Given the description of an element on the screen output the (x, y) to click on. 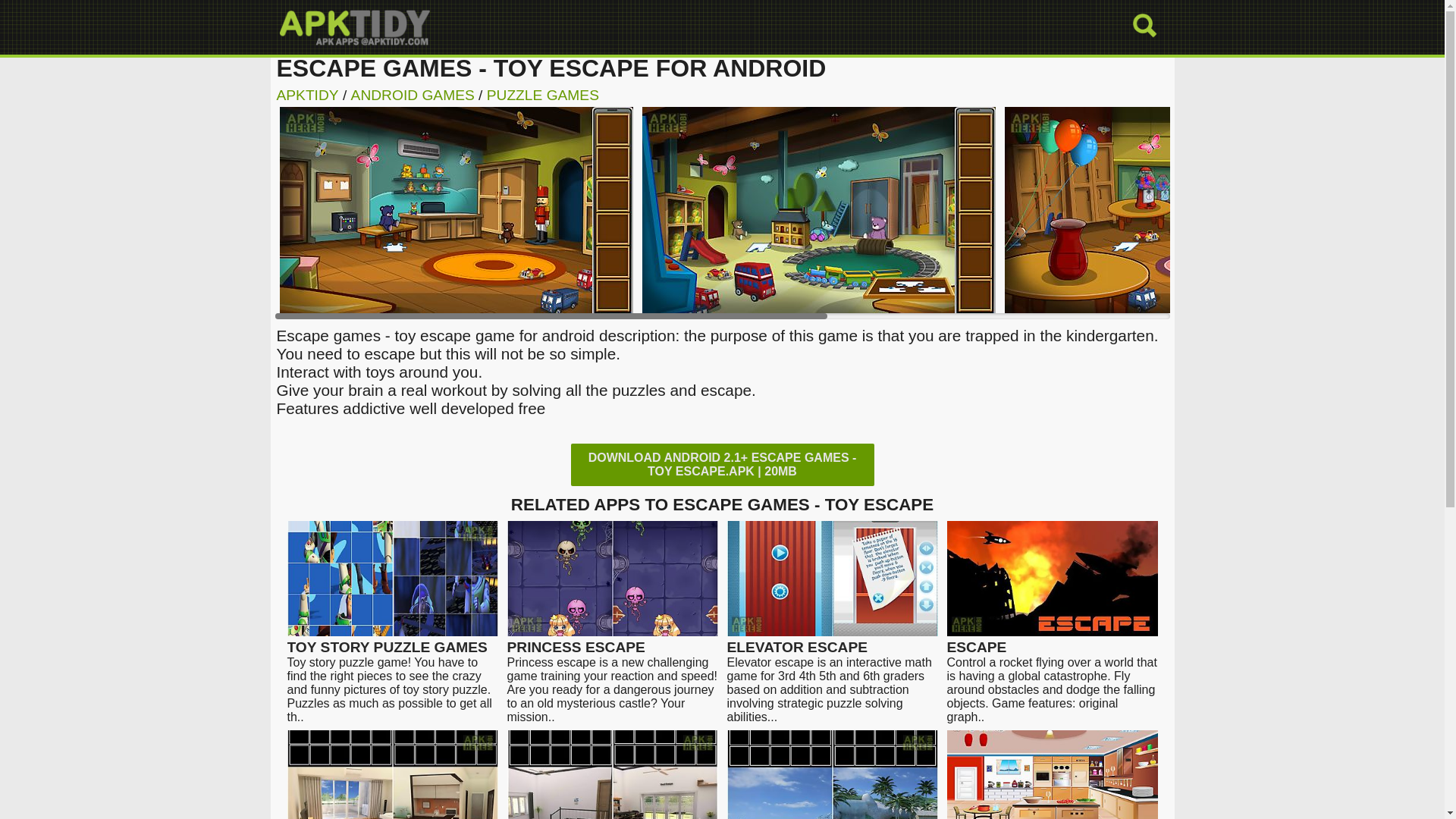
PRINCESS ESCAPE (611, 640)
ANDROID GAMES (412, 94)
TOY STORY PUZZLE GAMES (391, 640)
ELEVATOR ESCAPE (831, 640)
APKTIDY (306, 94)
ESCAPE (1051, 640)
PUZZLE GAMES (542, 94)
